Given the description of an element on the screen output the (x, y) to click on. 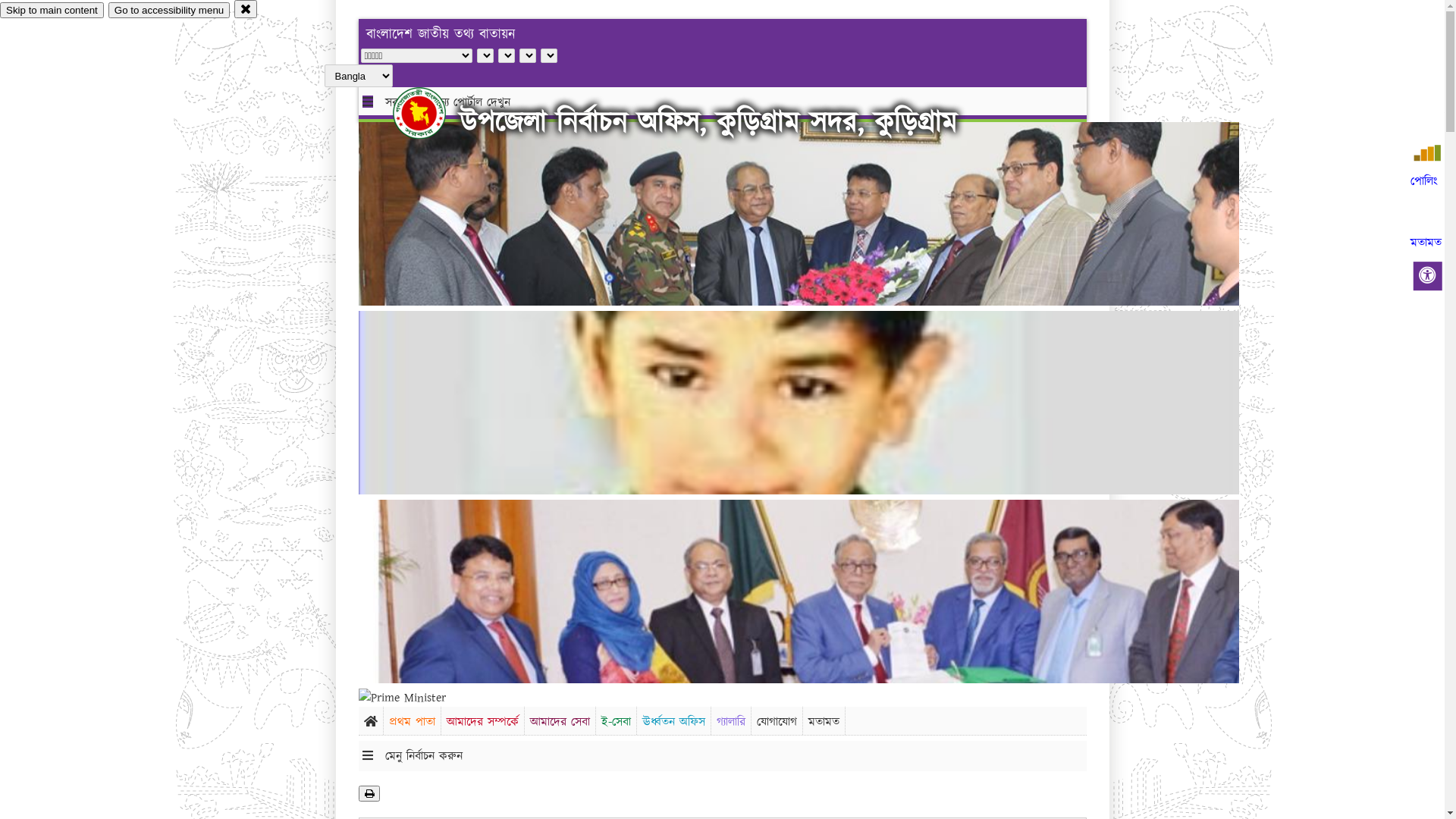
close Element type: hover (245, 9)
Go to accessibility menu Element type: text (168, 10)
Skip to main content Element type: text (51, 10)

                
             Element type: hover (431, 112)
